Given the description of an element on the screen output the (x, y) to click on. 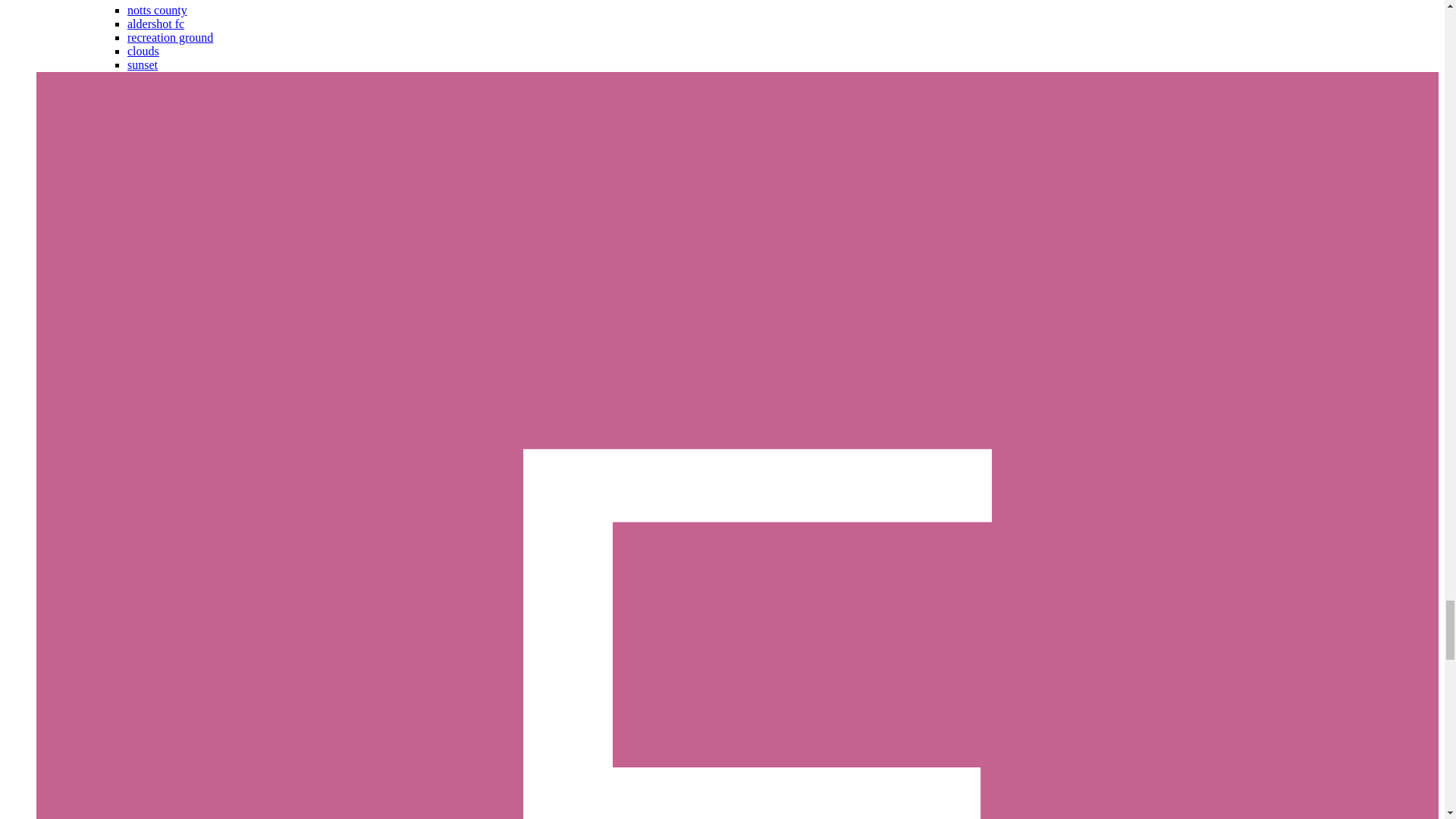
Find other content tagged with 'notts county' (157, 10)
Find other content tagged with 'recreation ground' (170, 37)
Find other content tagged with 'clouds' (143, 51)
Find other content tagged with 'aldershot fc' (156, 23)
Find other content tagged with 'sunset' (142, 64)
